Given the description of an element on the screen output the (x, y) to click on. 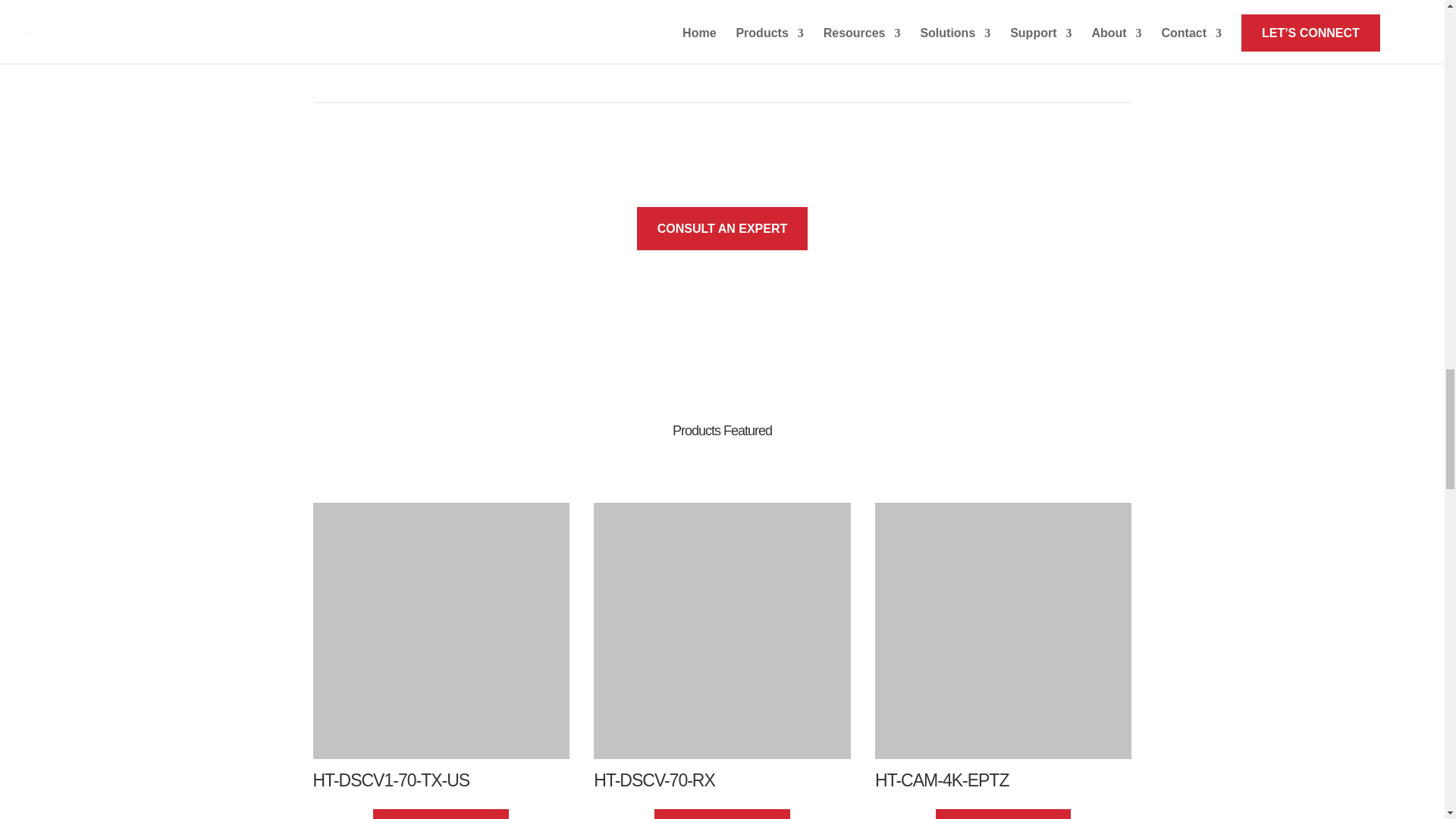
DSCV1-70-TX (441, 630)
DSCV-70-RX (722, 630)
HT-CAM-4K-EPTZ-front (1003, 630)
